Given the description of an element on the screen output the (x, y) to click on. 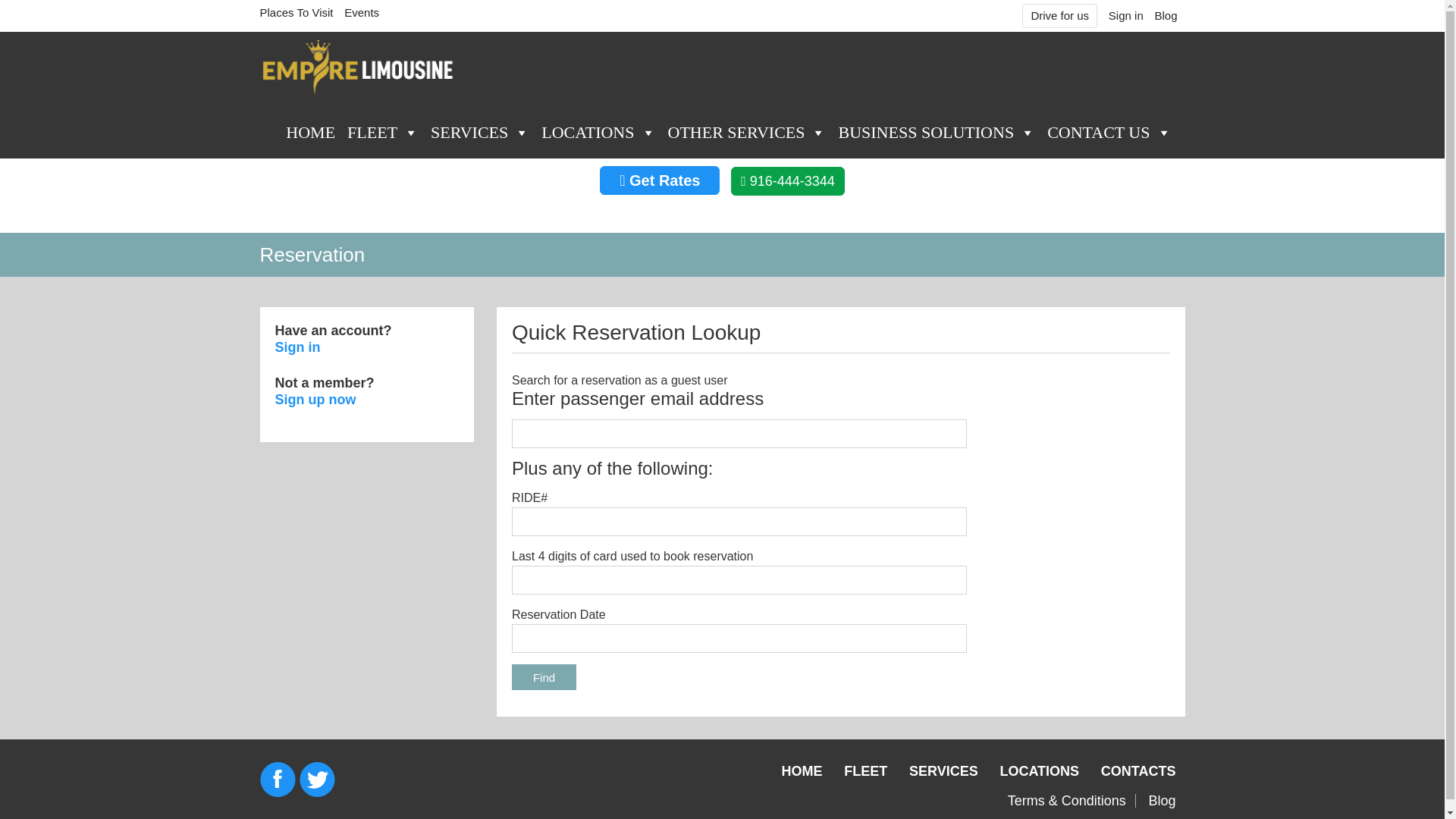
HOME (309, 130)
Sign in (1125, 15)
Limo Service Sacramento, Rent Party Bus Sacramento (358, 66)
Events (360, 11)
Drive for us (1059, 15)
FLEET (382, 130)
Places To Visit (296, 11)
Find (544, 677)
Blog (1165, 15)
